Given the description of an element on the screen output the (x, y) to click on. 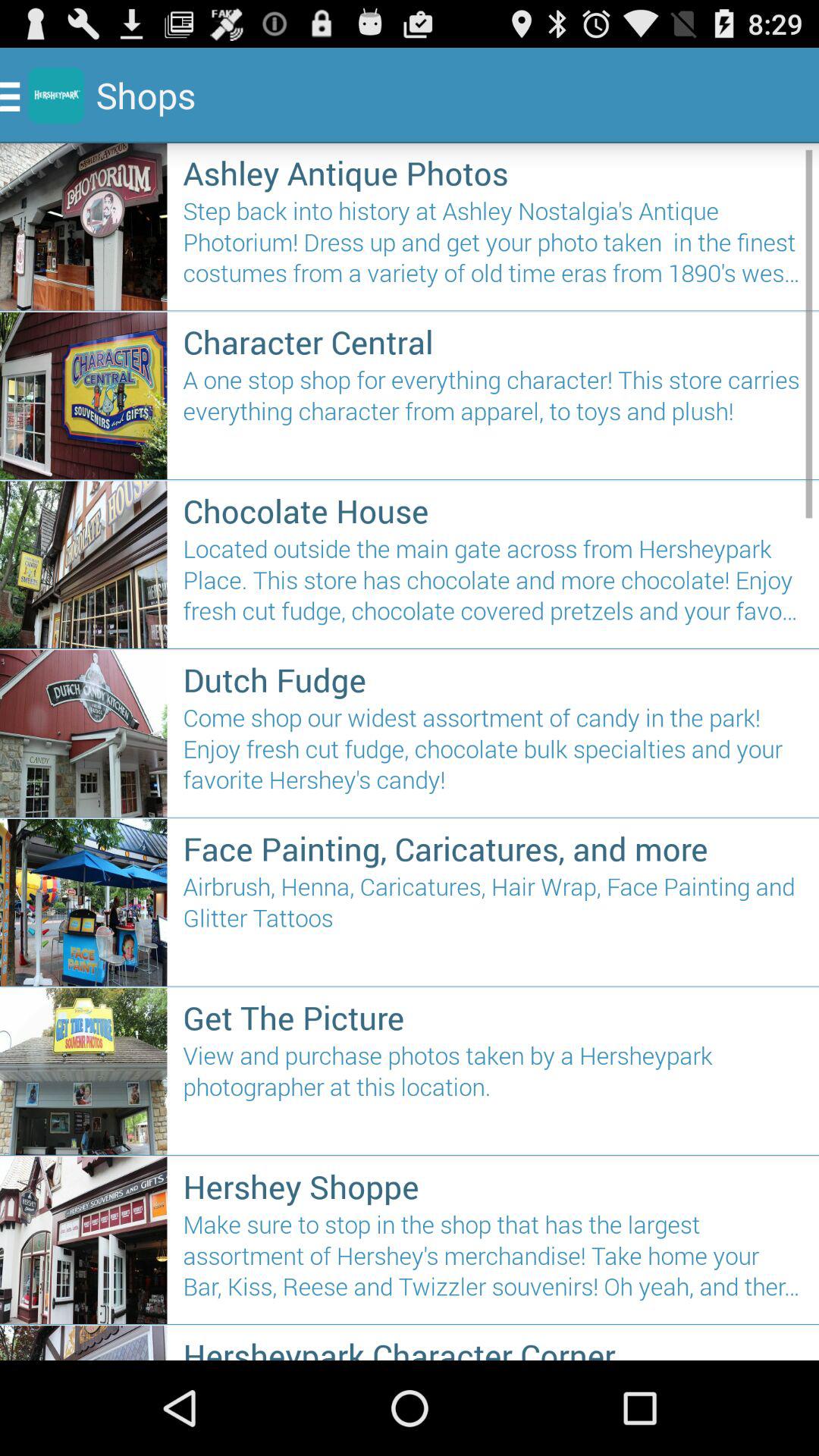
click hersheypark character corner icon (493, 1346)
